Given the description of an element on the screen output the (x, y) to click on. 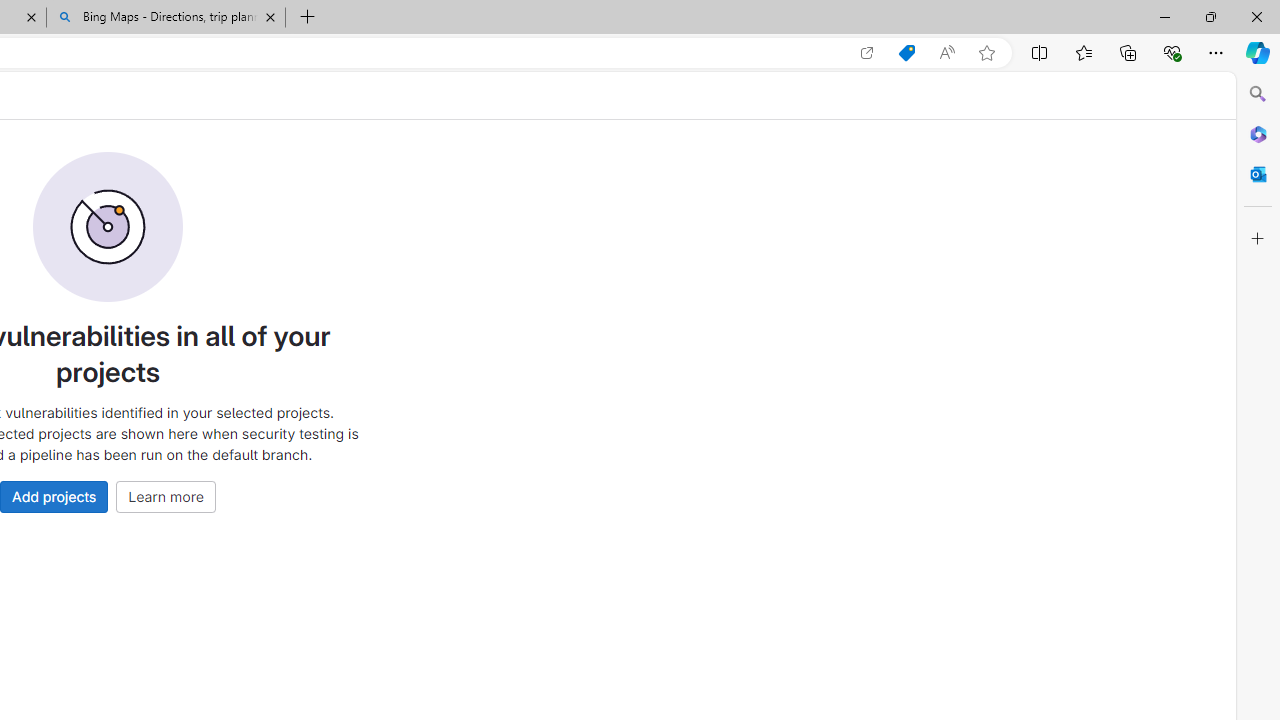
Add projects (54, 496)
